Given the description of an element on the screen output the (x, y) to click on. 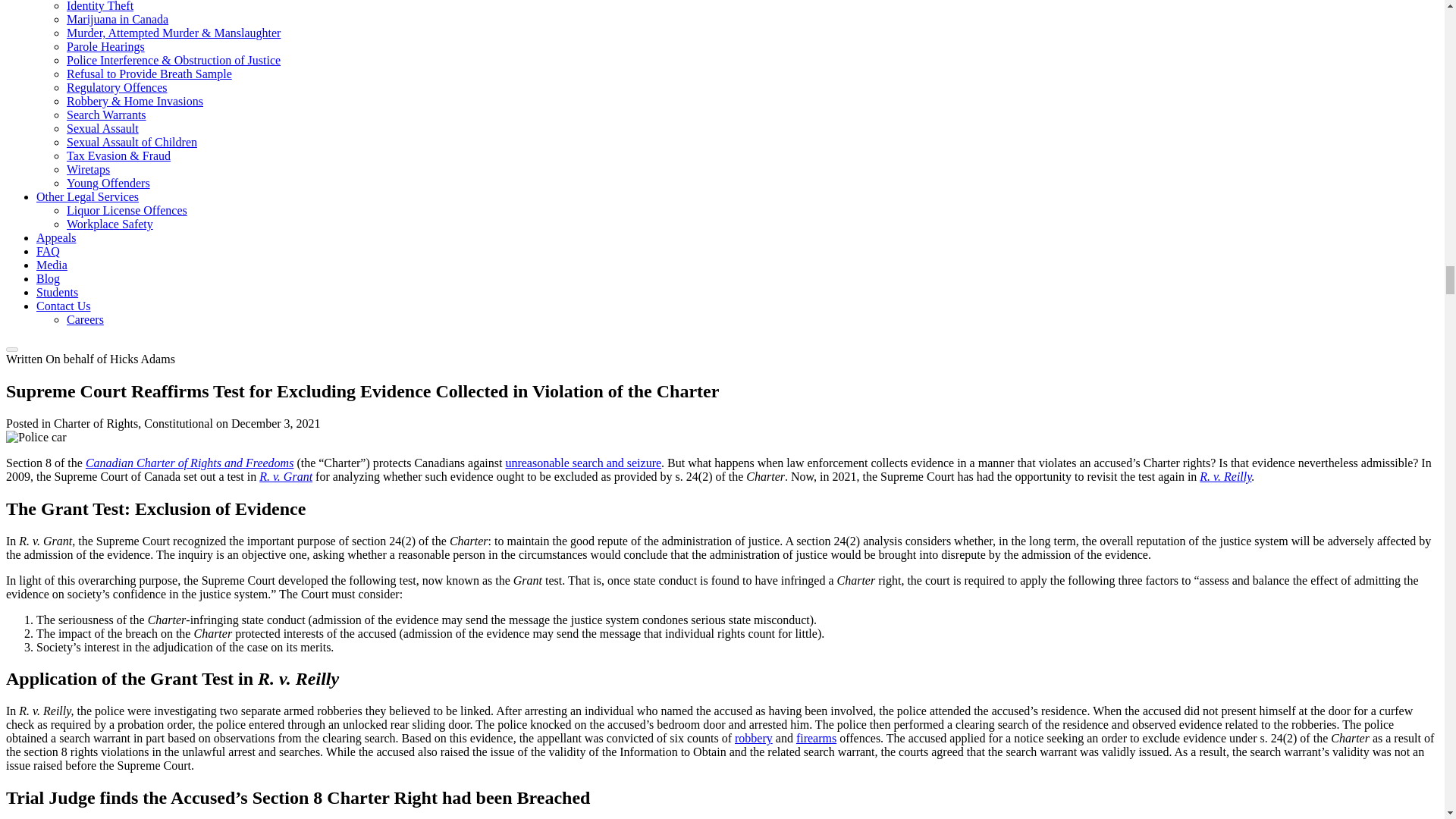
Wiretaps (88, 169)
Search Warrants (106, 114)
Marijuana in Canada (117, 19)
Sexual Assault of Children (131, 141)
Regulatory Offences (116, 87)
Parole Hearings (105, 46)
Refusal to Provide Breath Sample (148, 73)
Identity Theft (99, 6)
Sexual Assault (102, 128)
